Given the description of an element on the screen output the (x, y) to click on. 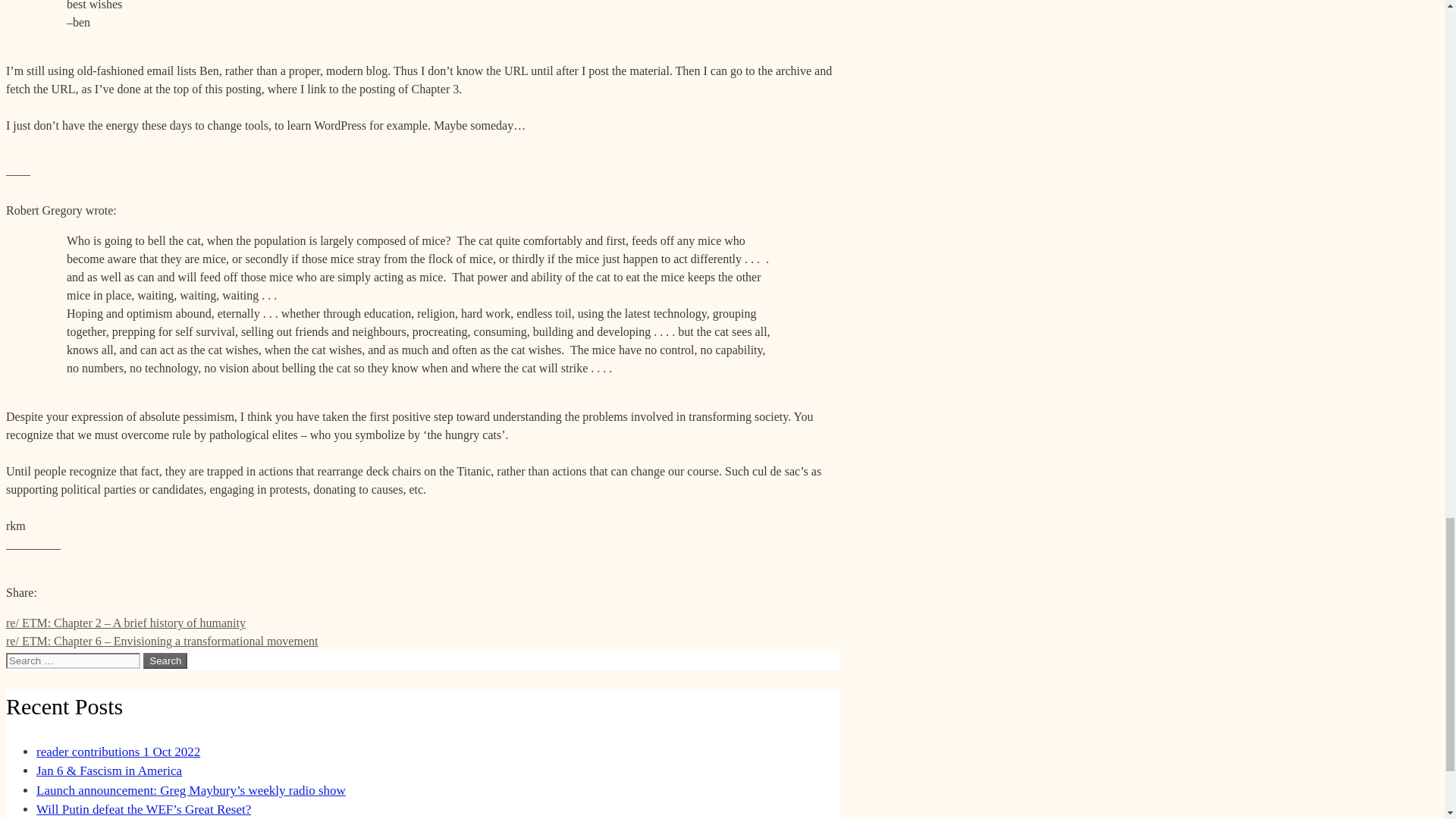
Previous (125, 622)
Search (164, 660)
Search (164, 660)
Search for: (72, 660)
Next (161, 640)
Search (164, 660)
reader contributions 1 Oct 2022 (118, 751)
